Given the description of an element on the screen output the (x, y) to click on. 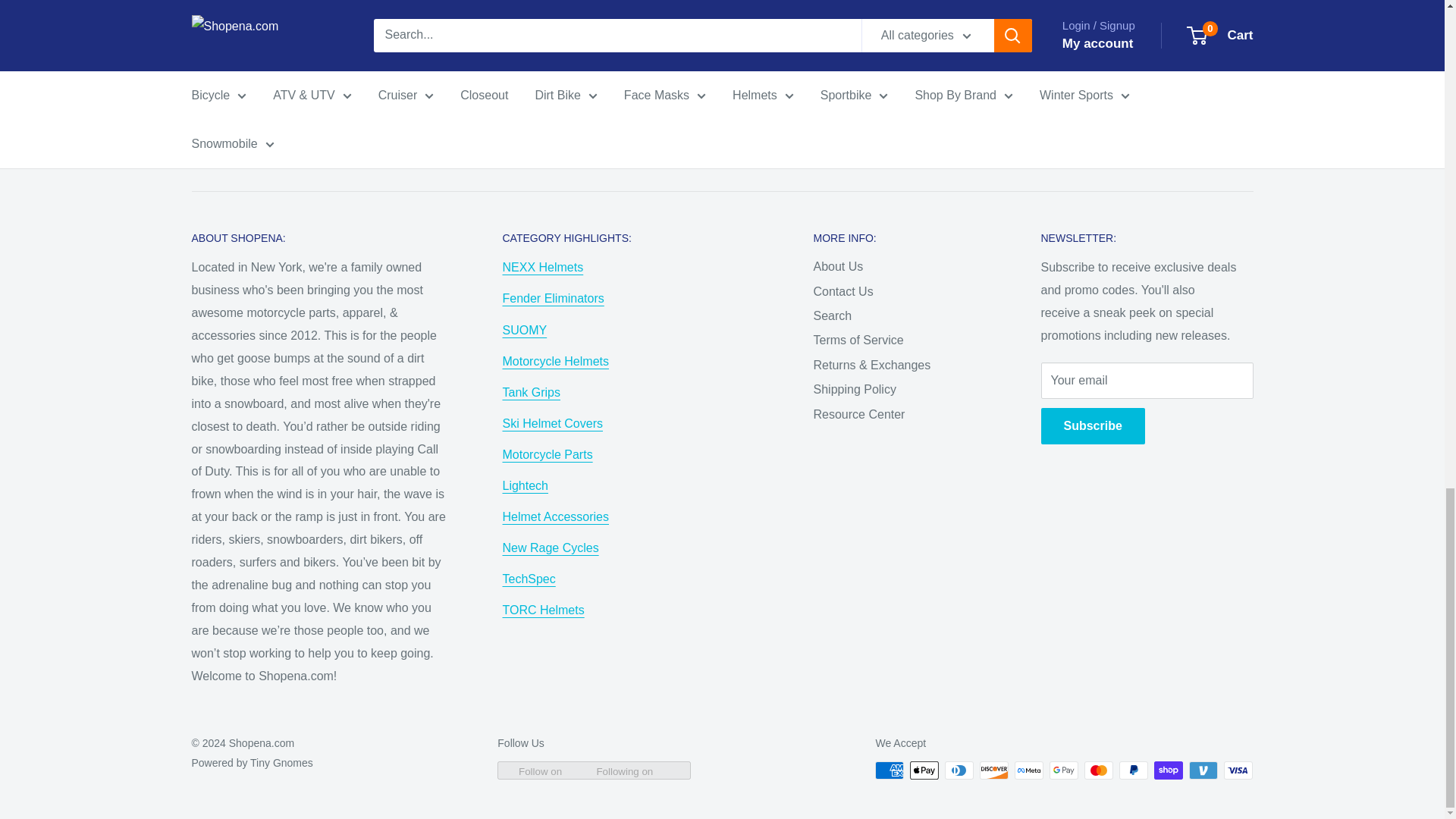
Sportbike Parts (547, 454)
Suomy (524, 328)
NEXX (542, 267)
Ski Helmet Covers (552, 422)
Motorcycle Fender Eliminators (553, 297)
Motorcycle Tank Grips (530, 391)
Helmets (555, 360)
